Given the description of an element on the screen output the (x, y) to click on. 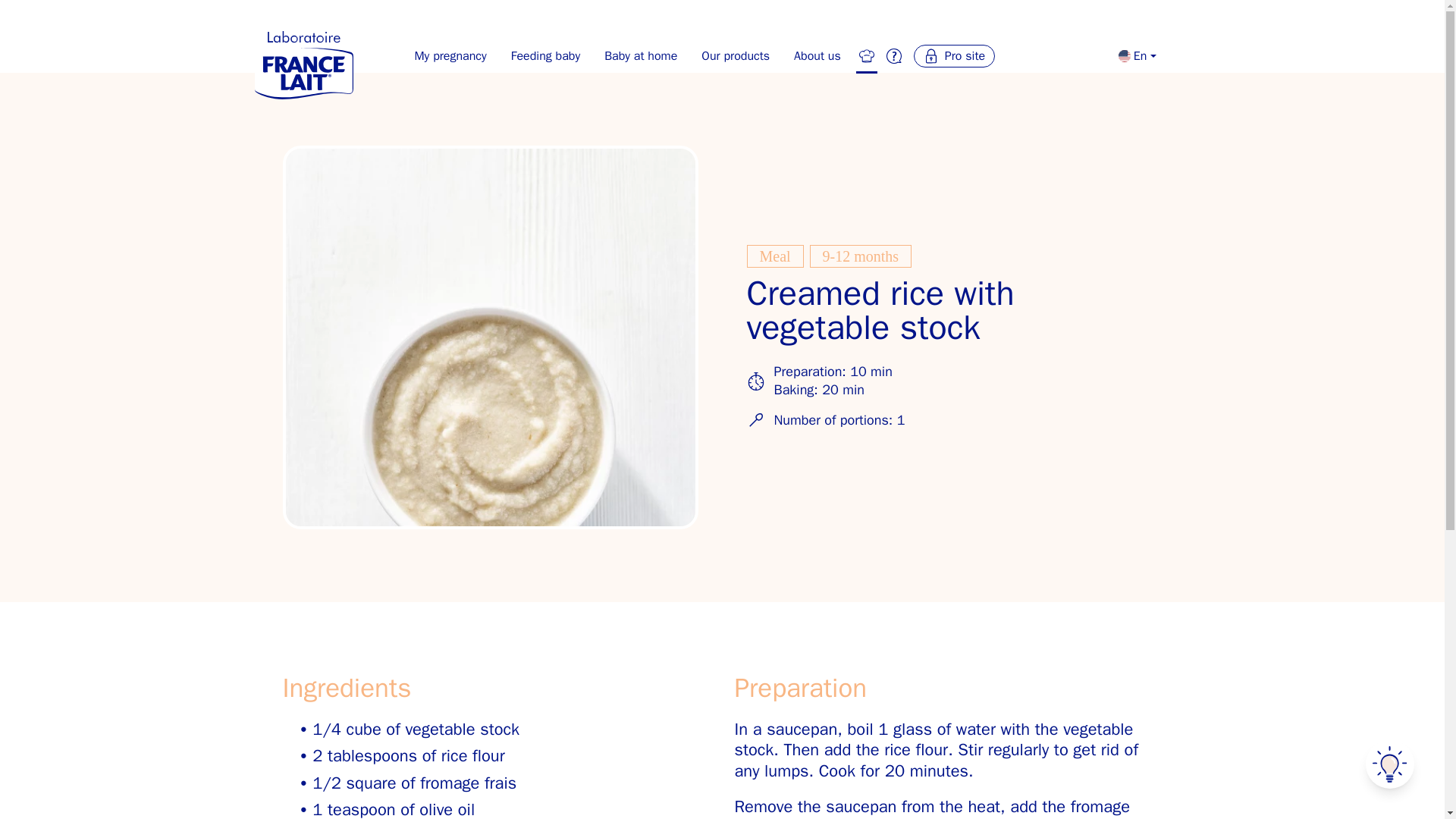
My pregnancy (449, 55)
Feeding baby (545, 55)
Our products (734, 55)
Baby at home (640, 55)
Pro site (954, 56)
About us (817, 55)
En (1136, 56)
